Given the description of an element on the screen output the (x, y) to click on. 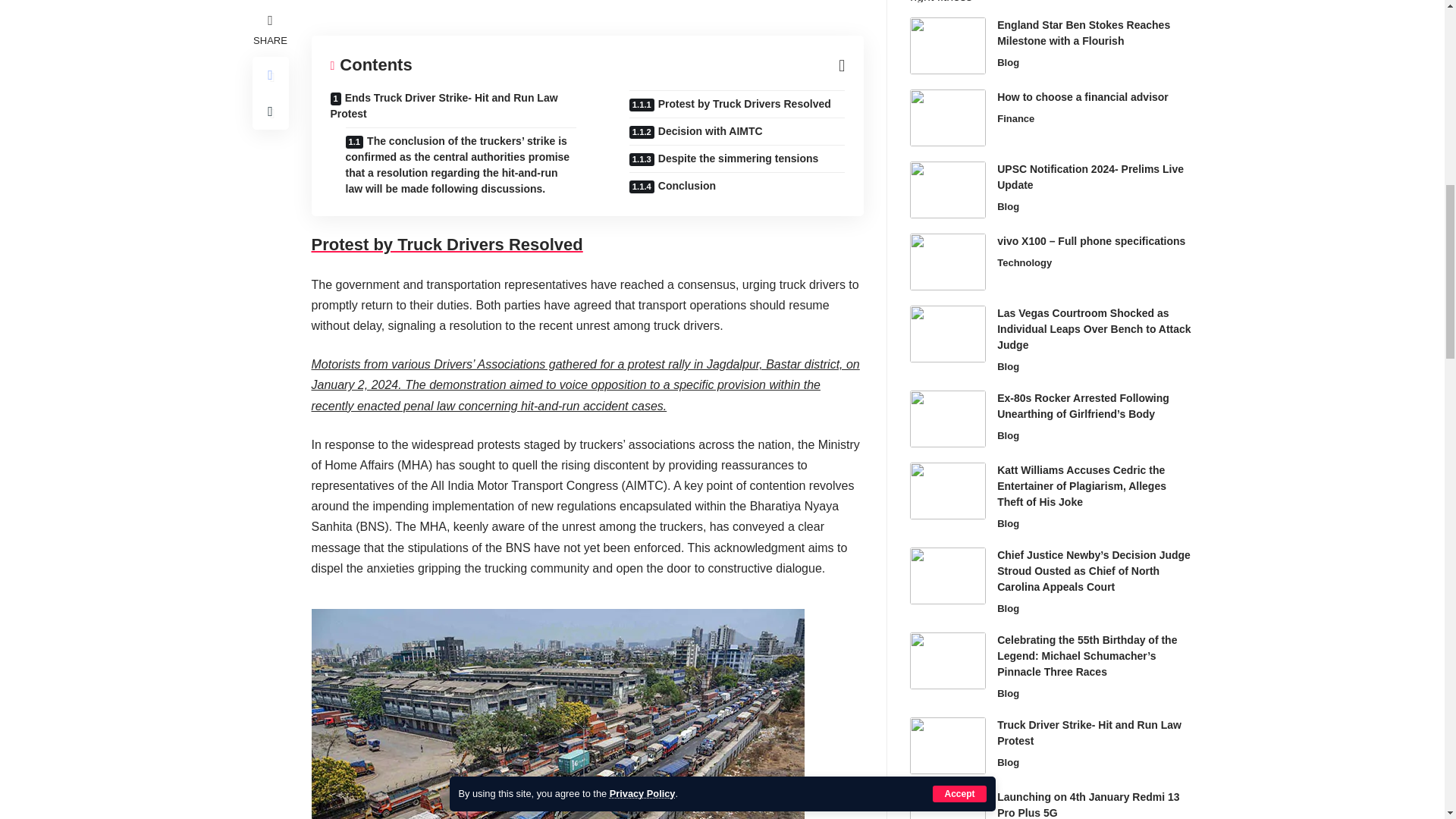
How to choose a financial advisor (947, 117)
England Star Ben Stokes Reaches Milestone with a Flourish (947, 45)
How do I choose the right fitness equipment (947, 1)
UPSC Notification 2024- Prelims Live Update (947, 189)
